Given the description of an element on the screen output the (x, y) to click on. 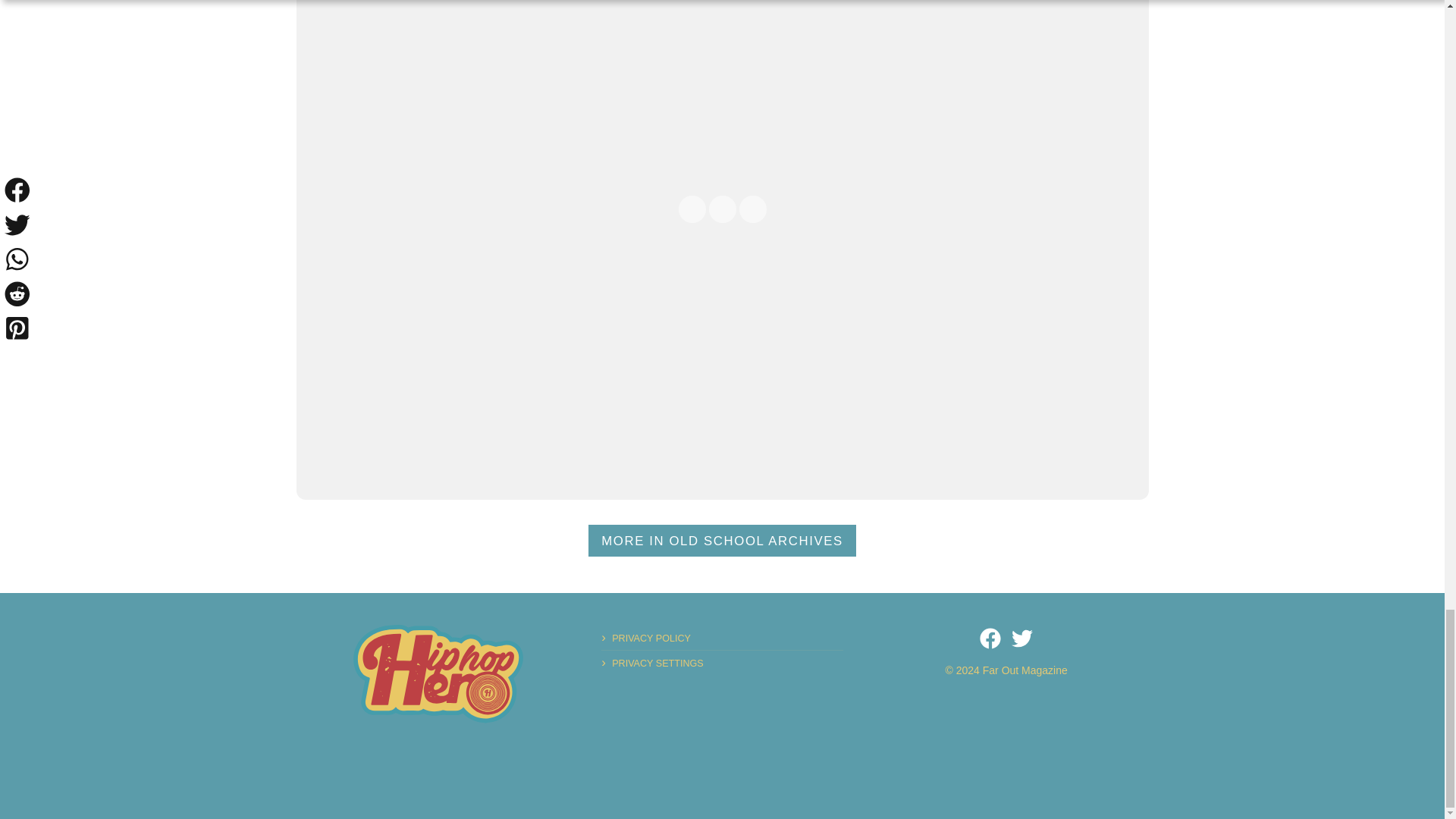
More in Old School Archives (722, 540)
Hip Hop Hero (438, 673)
Hip Hop Hero on Twitter (1021, 638)
Hip Hop Hero on Facebook (990, 638)
